Given the description of an element on the screen output the (x, y) to click on. 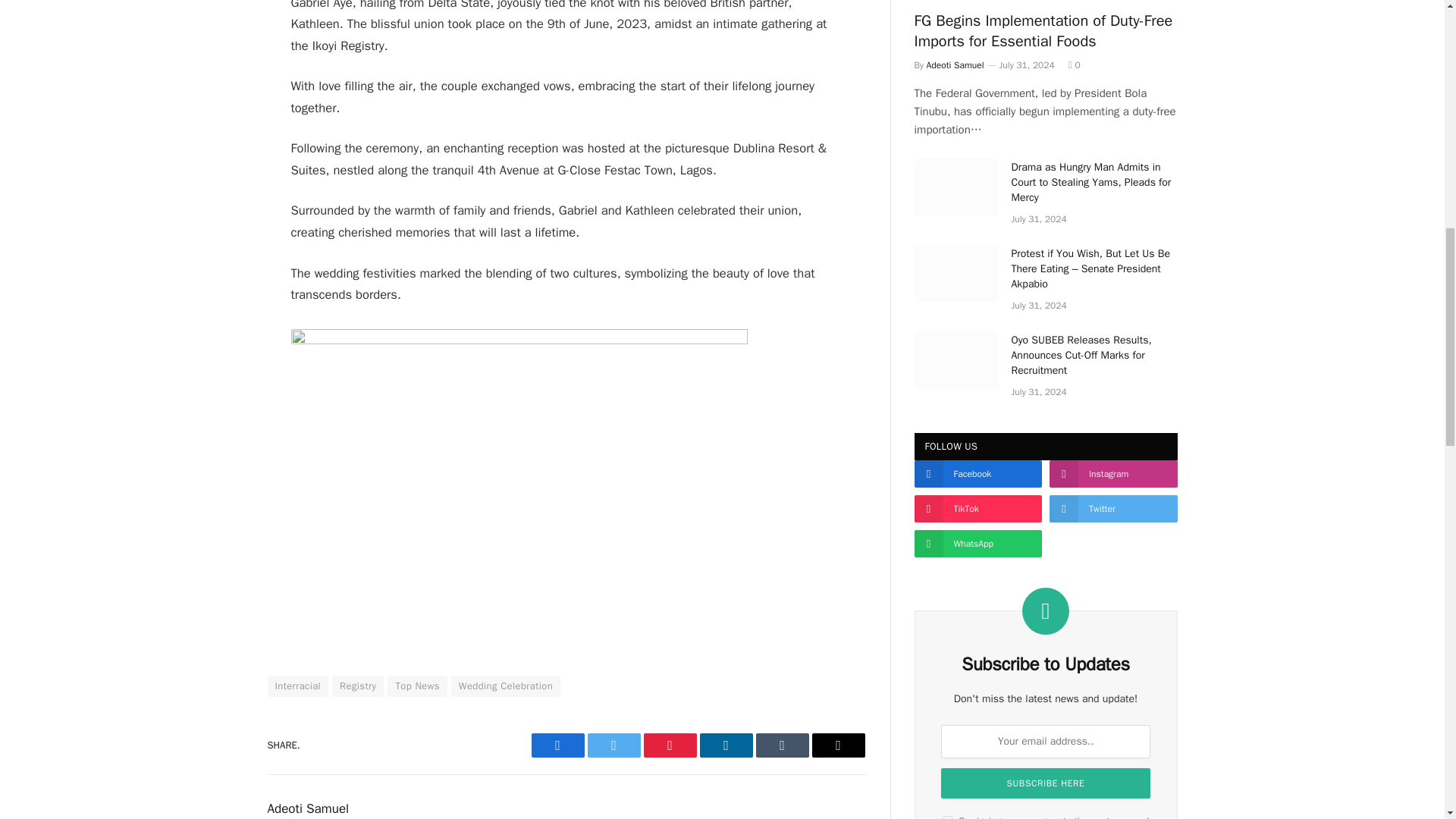
Subscribe Here (1045, 783)
on (947, 817)
